Given the description of an element on the screen output the (x, y) to click on. 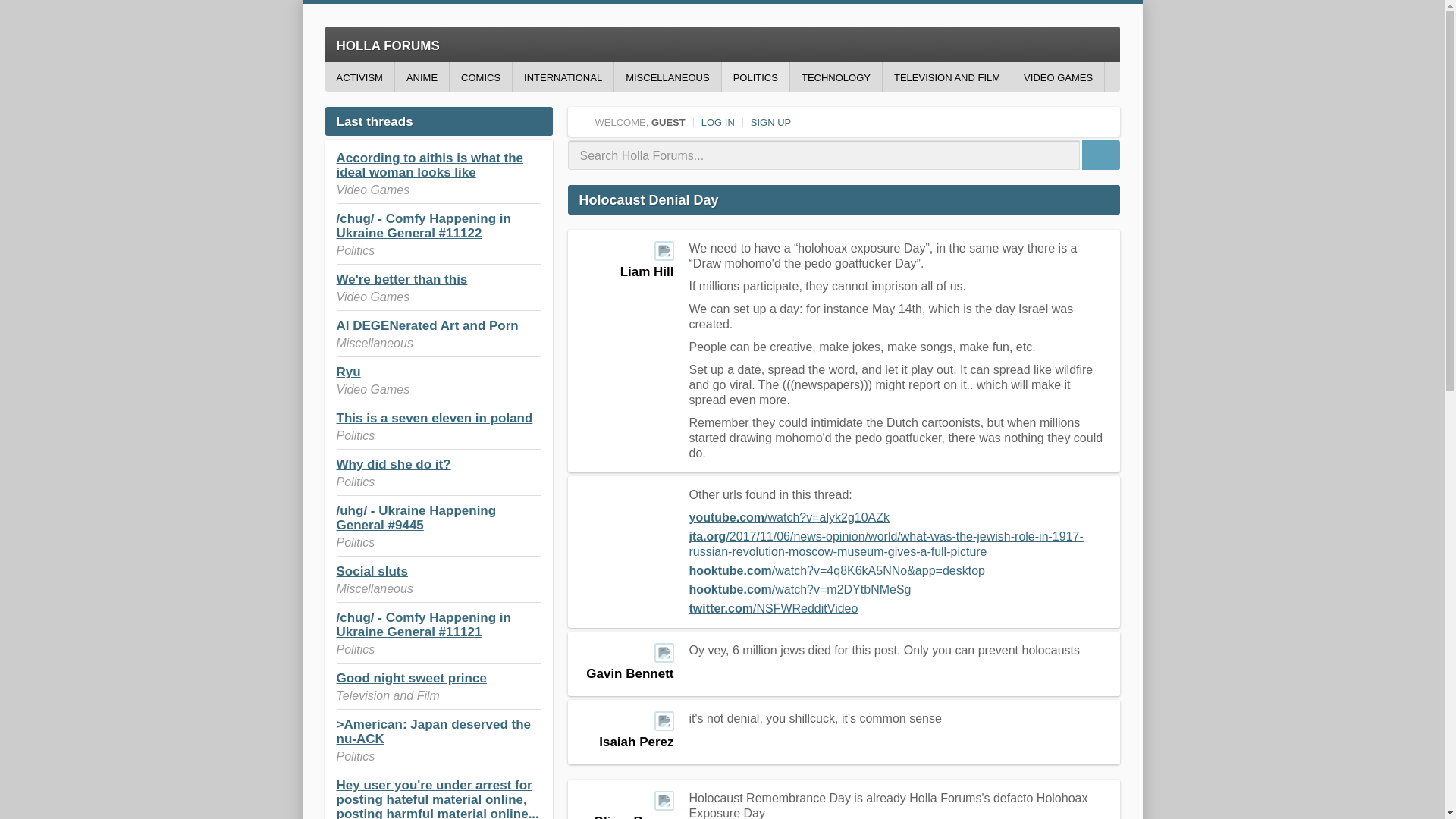
AI DEGENerated Art and Porn (427, 325)
We're better than this (401, 278)
TELEVISION AND FILM (946, 76)
Good night sweet prince (411, 677)
SIGN UP (770, 122)
TECHNOLOGY (836, 76)
According to aithis is what the ideal woman looks like (430, 164)
Ryu (348, 371)
HOLLA FORUMS (721, 44)
VIDEO GAMES (1057, 76)
